Given the description of an element on the screen output the (x, y) to click on. 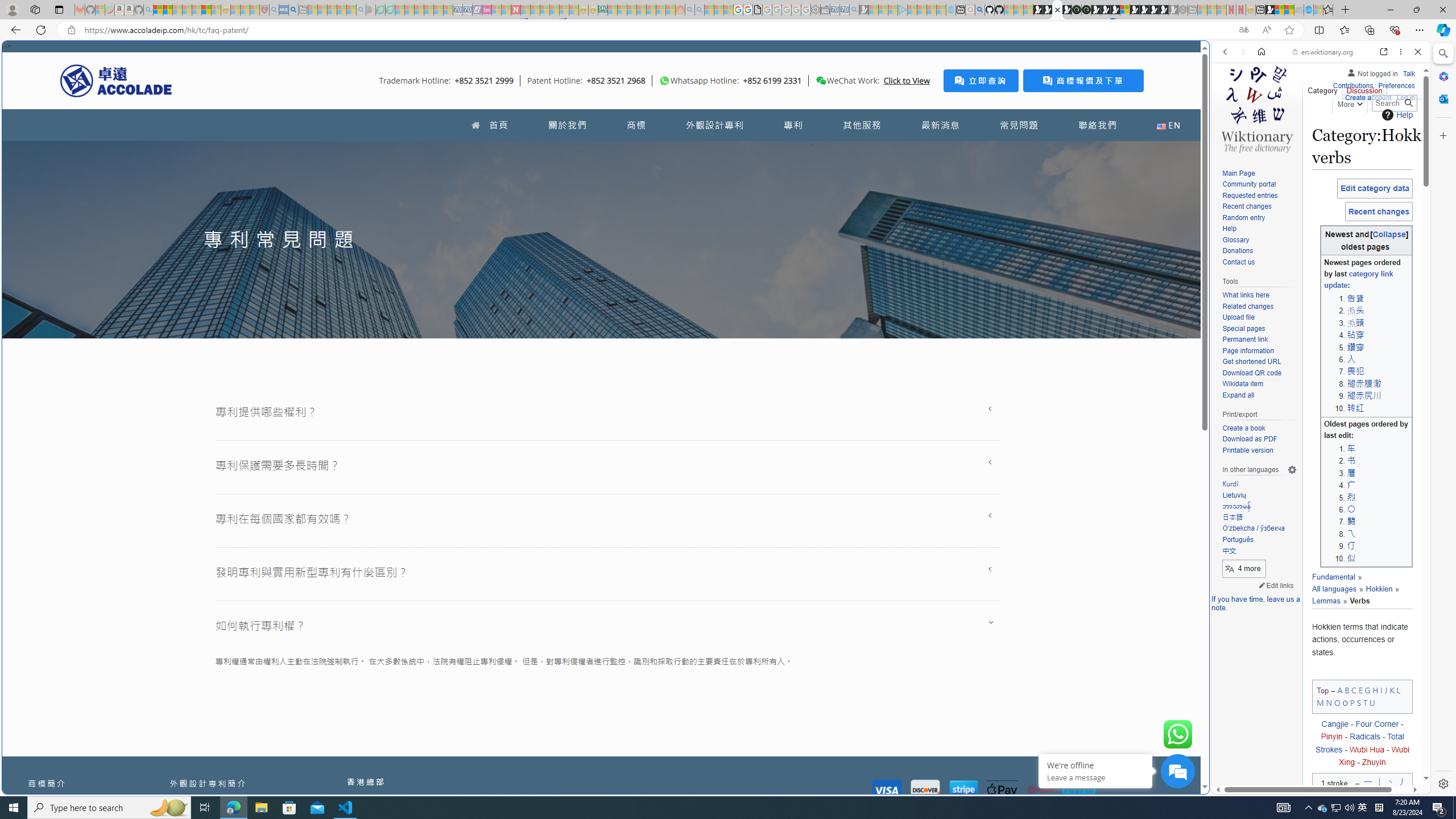
Special pages (1259, 328)
Category (1322, 87)
Upload file (1238, 317)
Total Strokes (1358, 743)
S (1358, 701)
